Given the description of an element on the screen output the (x, y) to click on. 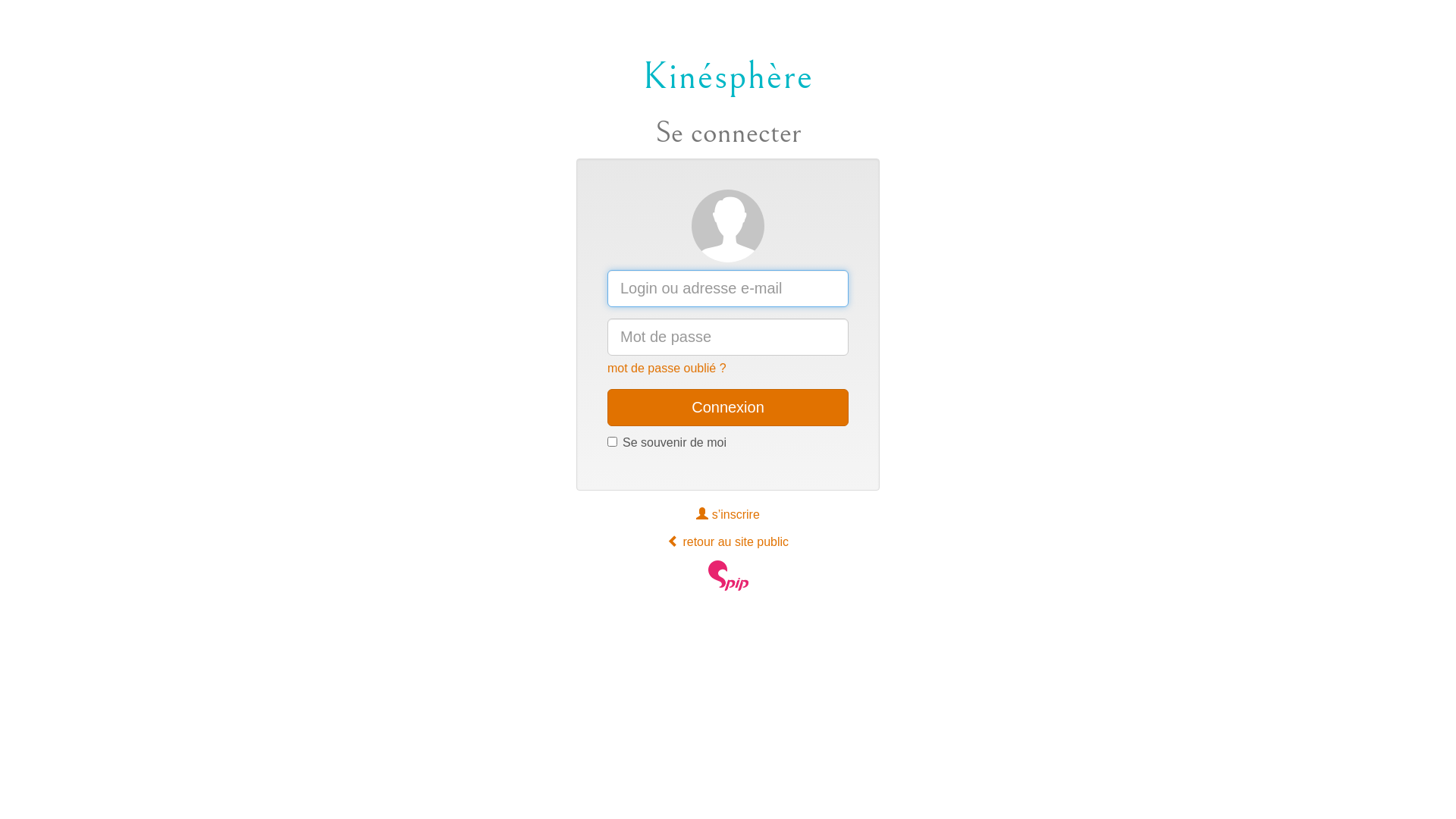
Connexion Element type: text (727, 407)
retour au site public Element type: text (727, 541)
